Given the description of an element on the screen output the (x, y) to click on. 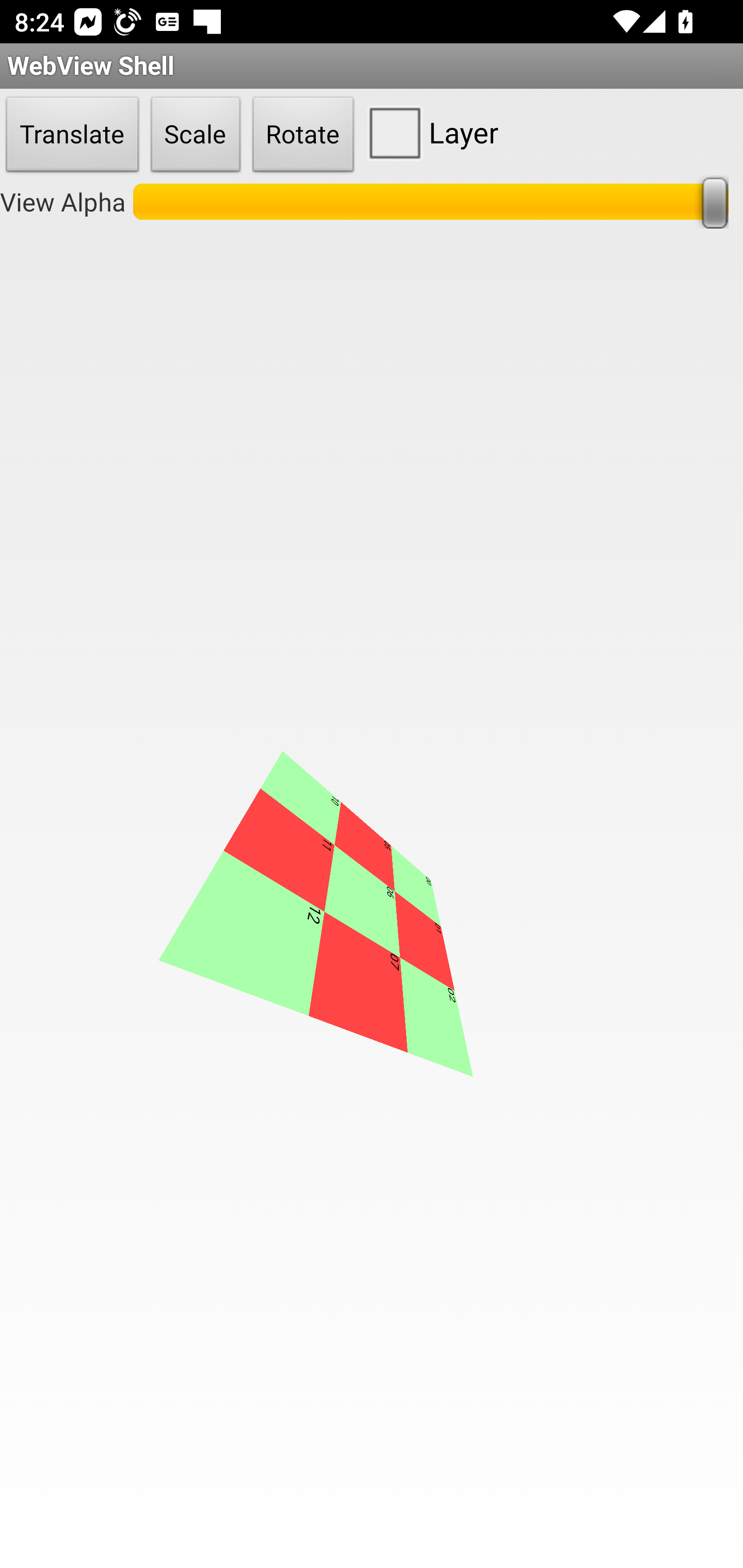
Layer (429, 132)
Translate (72, 135)
Scale (195, 135)
Rotate (303, 135)
